Given the description of an element on the screen output the (x, y) to click on. 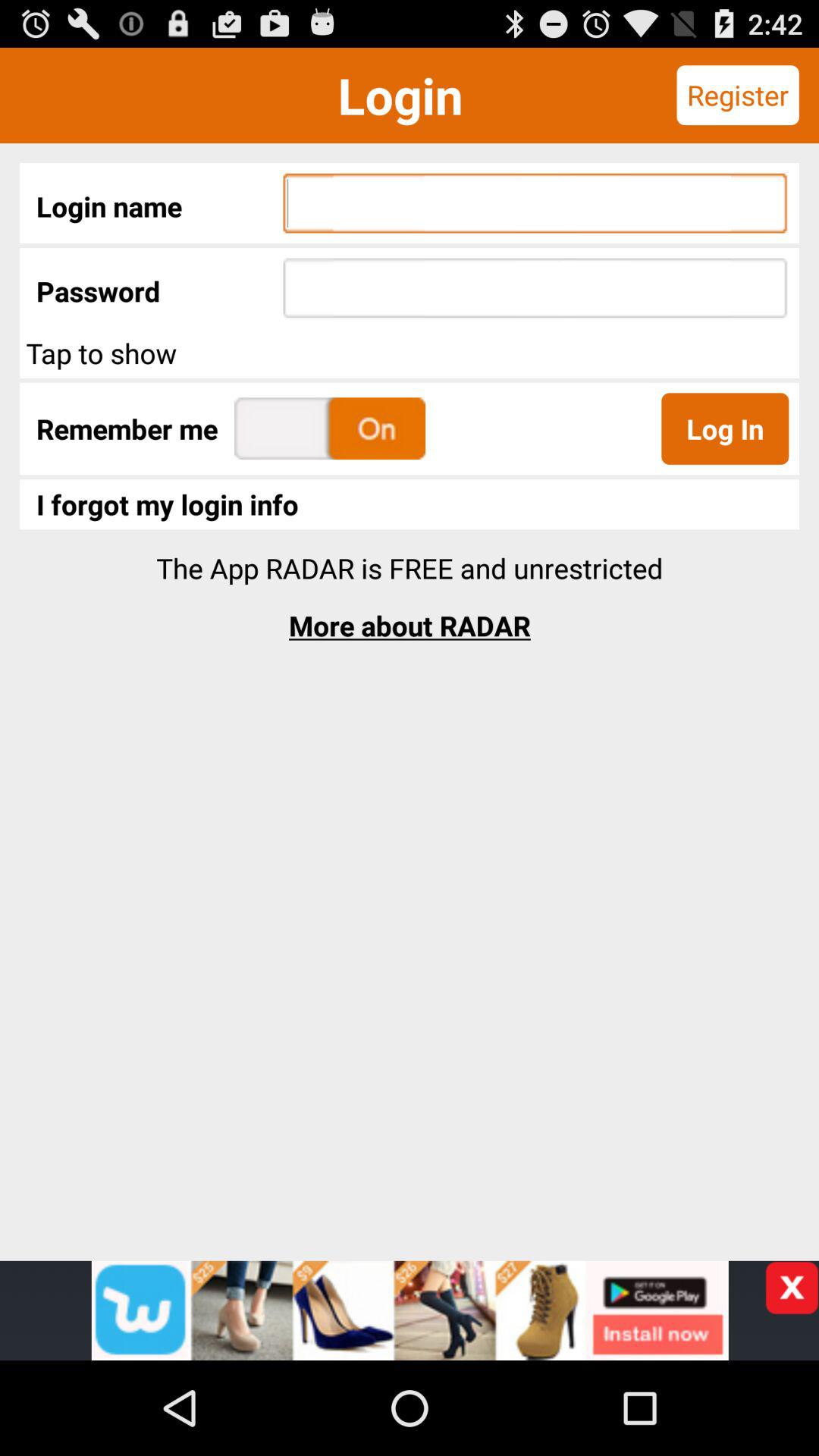
close button (791, 1287)
